Given the description of an element on the screen output the (x, y) to click on. 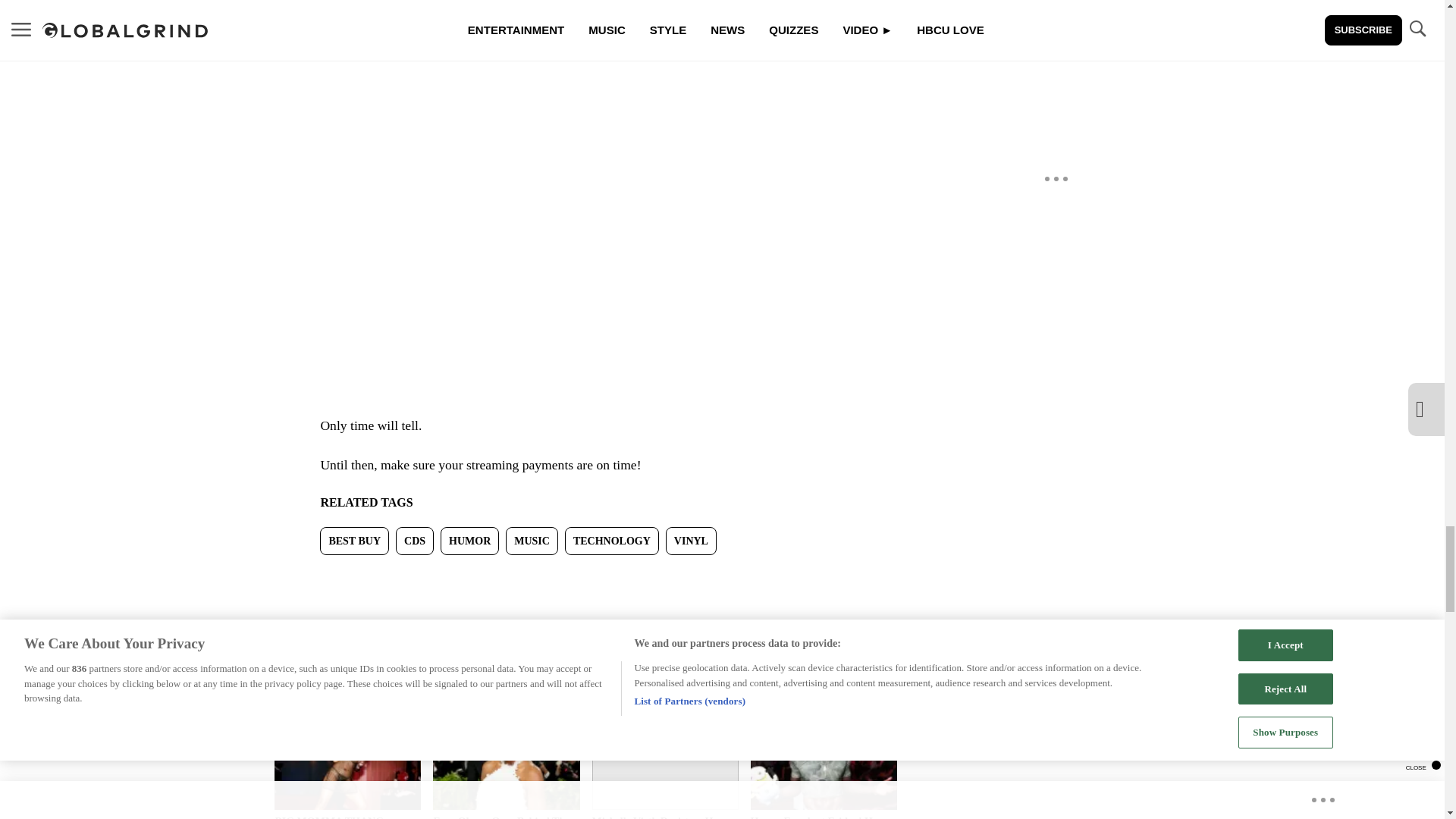
CDS (414, 541)
HUMOR (470, 541)
Vuukle Sharebar Widget (585, 579)
Embedded content (608, 203)
BEST BUY (354, 541)
MUSIC (531, 541)
